Given the description of an element on the screen output the (x, y) to click on. 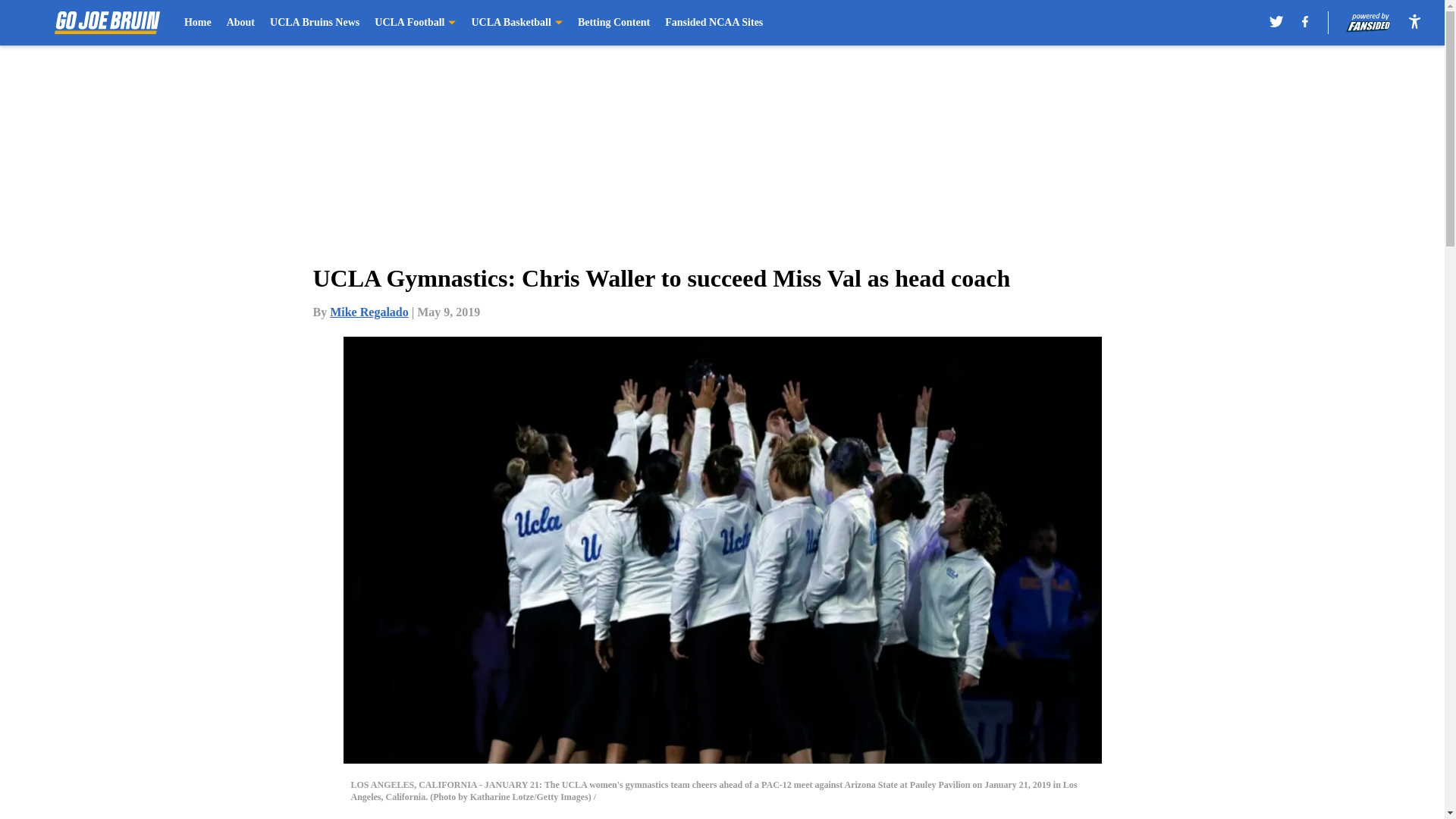
Fansided NCAA Sites (713, 22)
Betting Content (613, 22)
Home (197, 22)
UCLA Bruins News (314, 22)
About (240, 22)
Mike Regalado (369, 311)
